Given the description of an element on the screen output the (x, y) to click on. 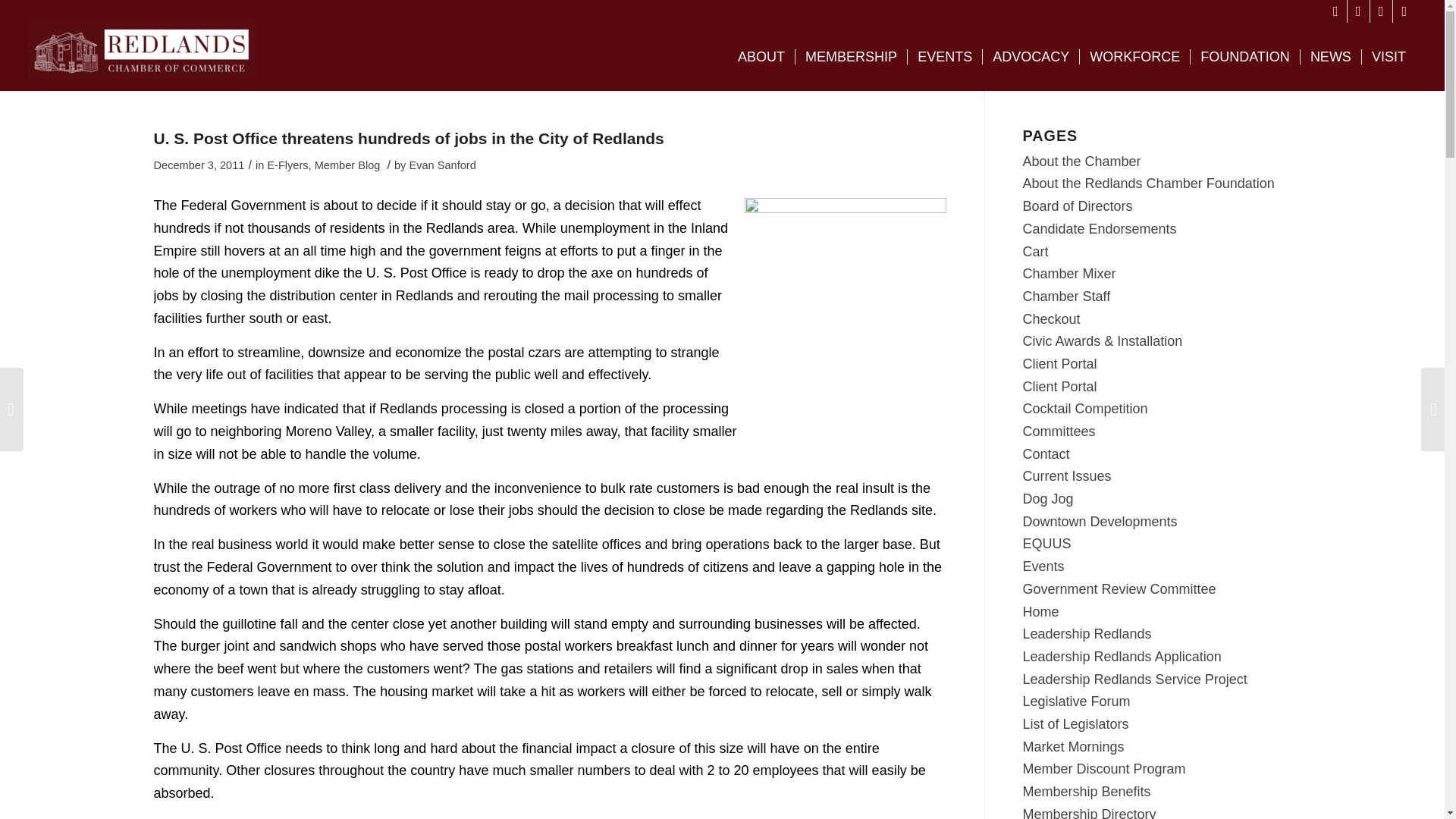
ADVOCACY (1029, 56)
EVENTS (944, 56)
ABOUT (761, 56)
Posts by Evan Sanford (442, 164)
Instagram (1380, 11)
LinkedIn (1404, 11)
MEMBERSHIP (850, 56)
Twitter (1359, 11)
Facebook (1335, 11)
